Given the description of an element on the screen output the (x, y) to click on. 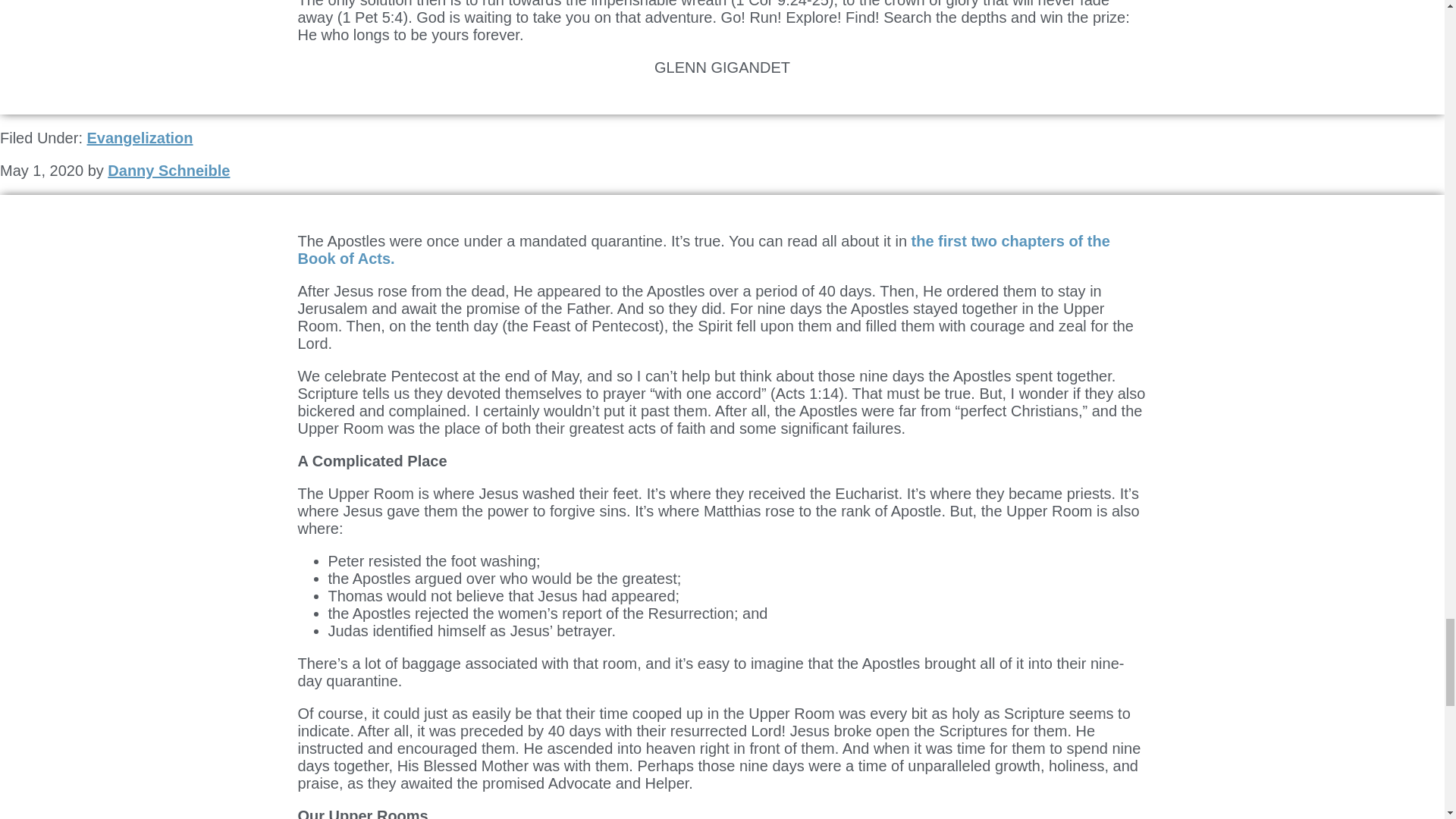
the first two chapters of the Book of Acts. (703, 249)
Danny Schneible (168, 170)
Evangelization (138, 137)
